Given the description of an element on the screen output the (x, y) to click on. 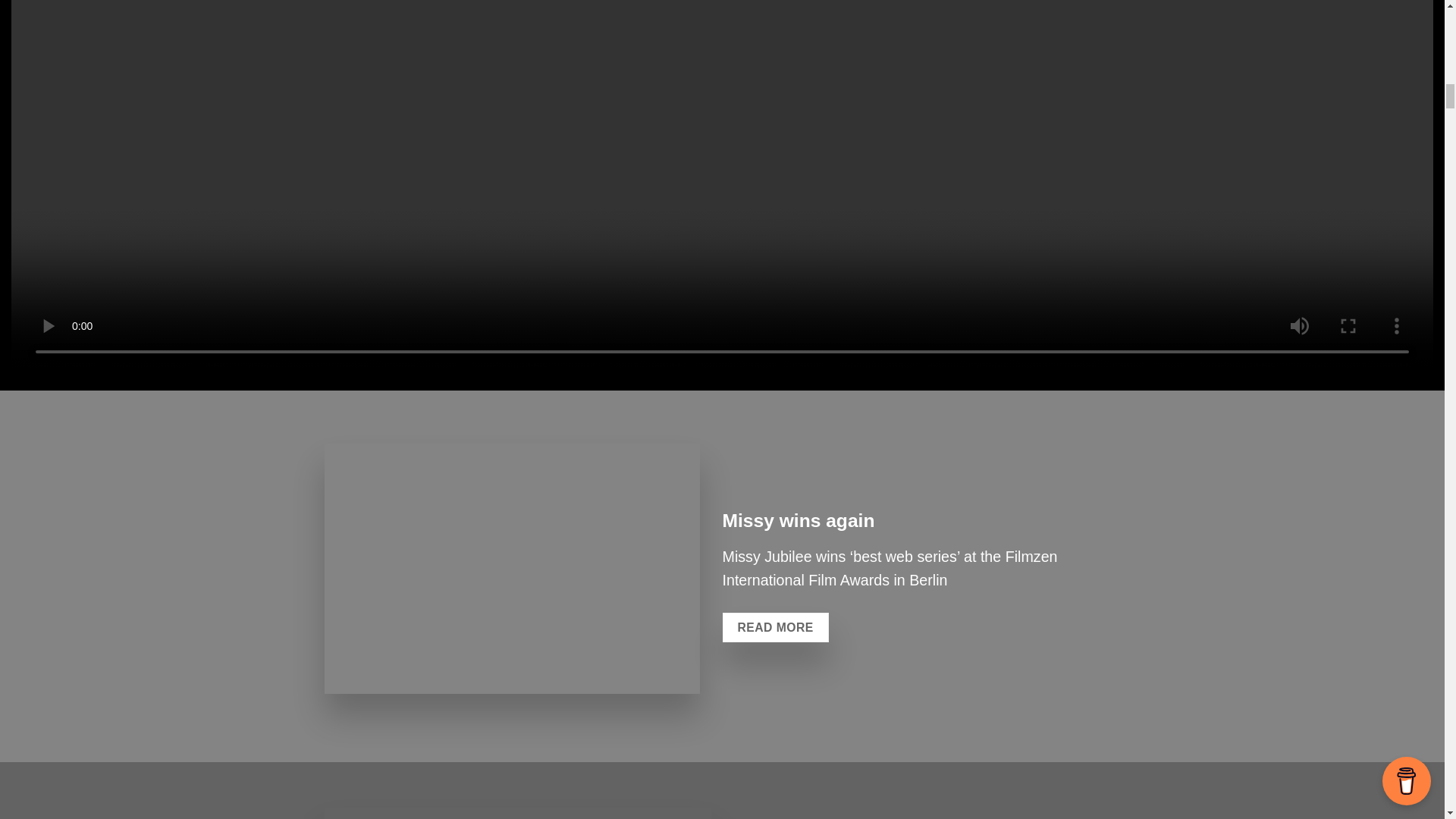
Home (512, 568)
Home (517, 813)
READ MORE (775, 627)
